Given the description of an element on the screen output the (x, y) to click on. 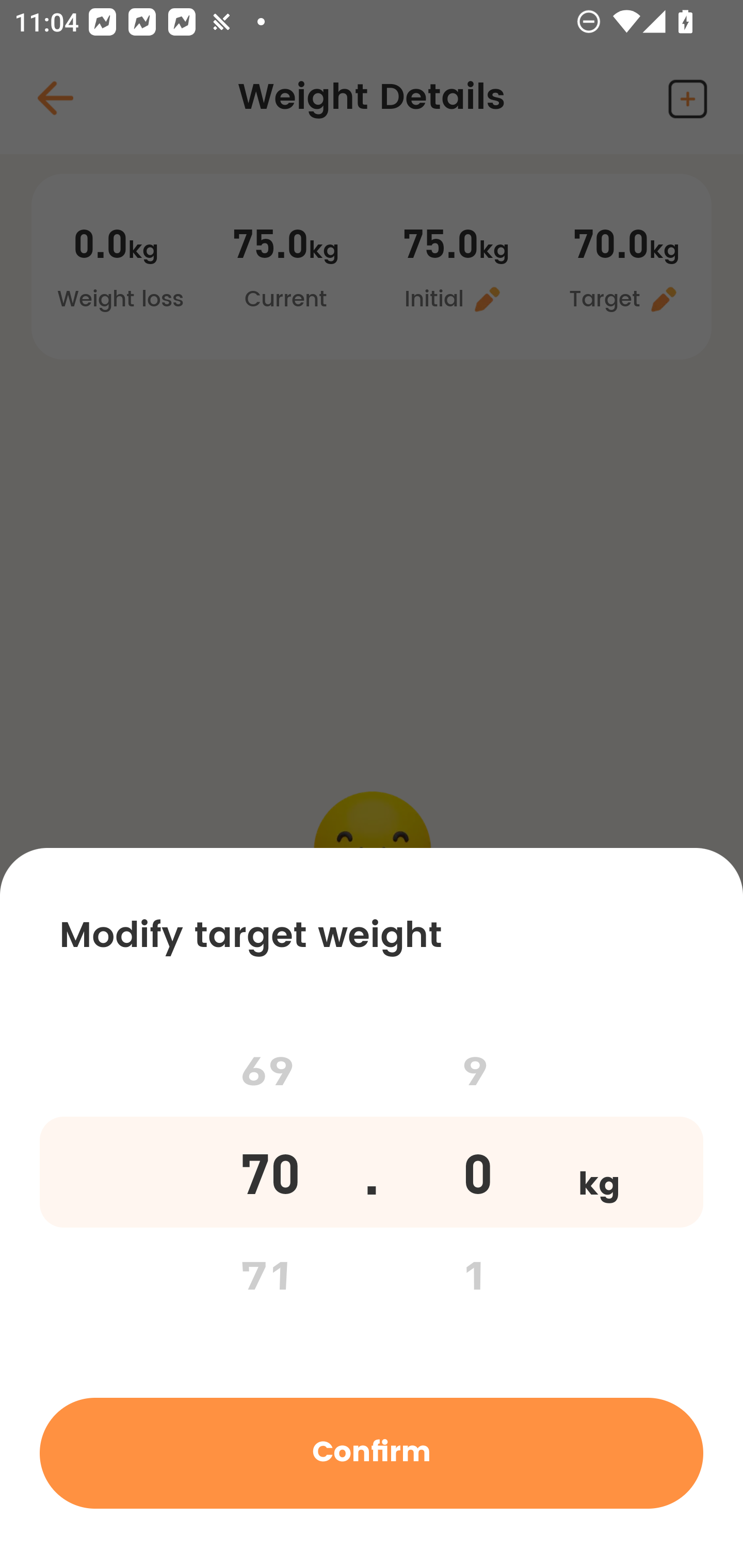
Confirm (371, 1452)
